Given the description of an element on the screen output the (x, y) to click on. 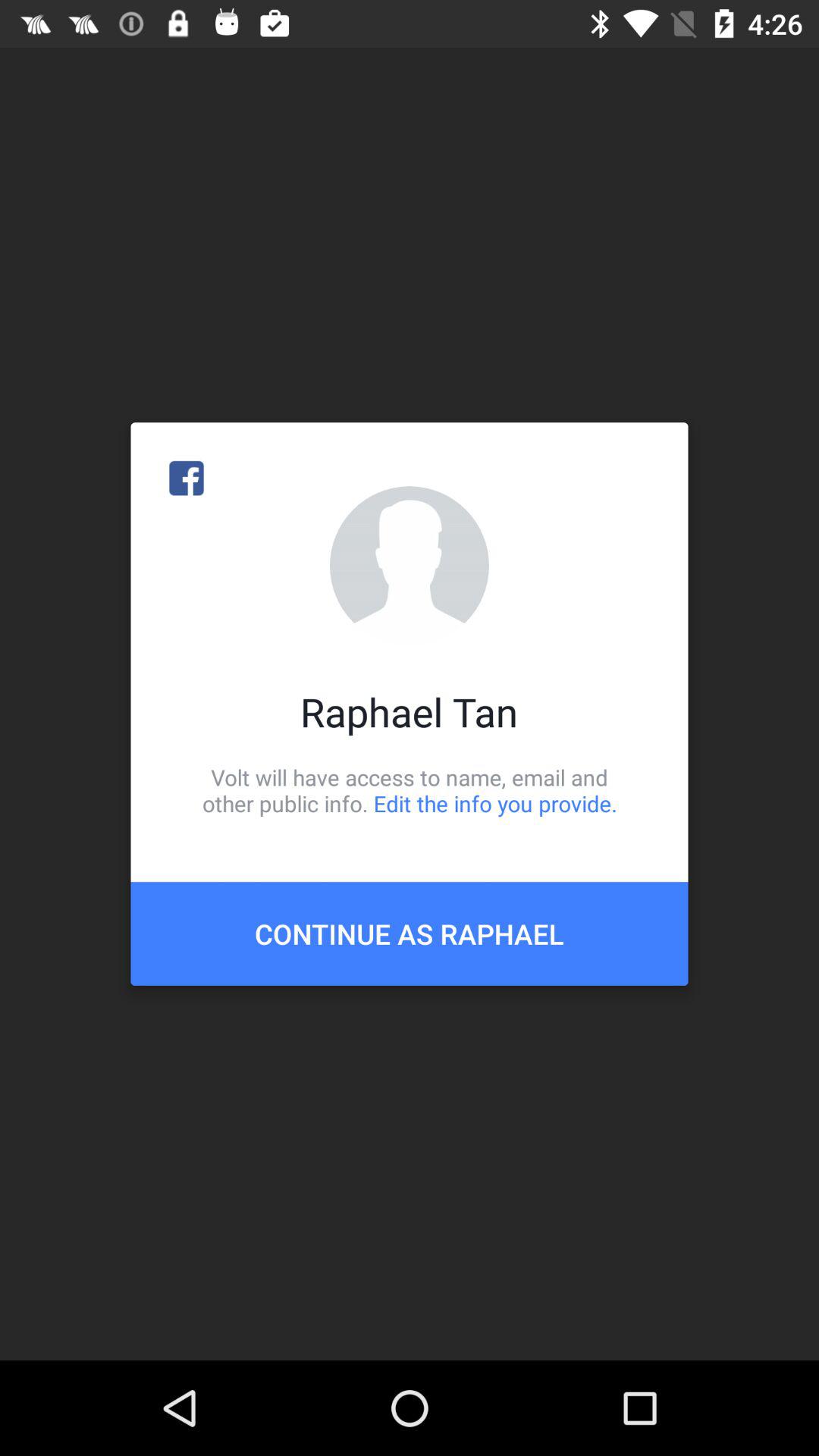
launch item above the continue as raphael item (409, 790)
